Given the description of an element on the screen output the (x, y) to click on. 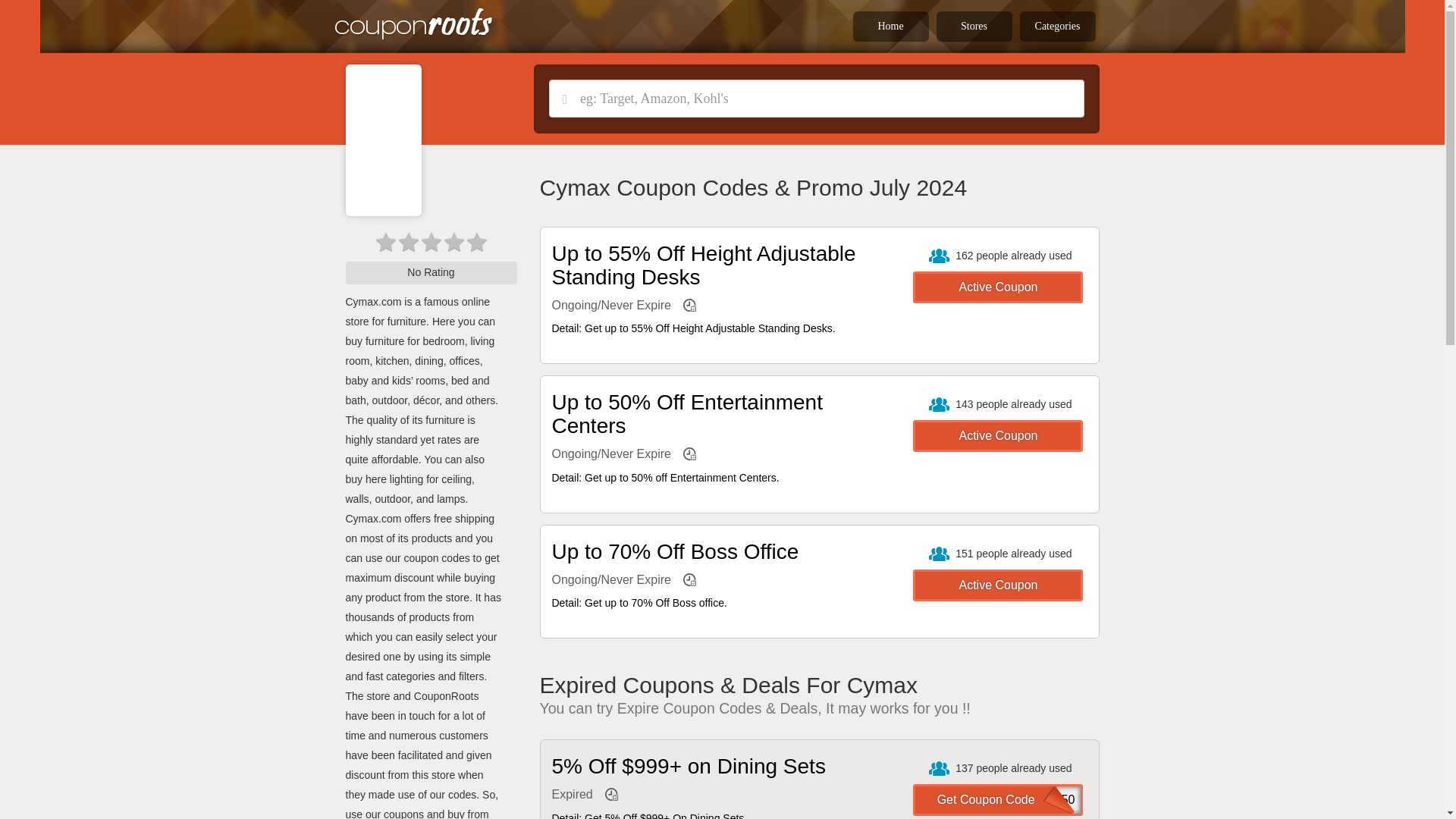
Home (889, 26)
Categories (1056, 26)
CouponRoots.com (419, 24)
CouponRoots.com (413, 24)
SETSALE50 (997, 799)
Stores (973, 26)
